Given the description of an element on the screen output the (x, y) to click on. 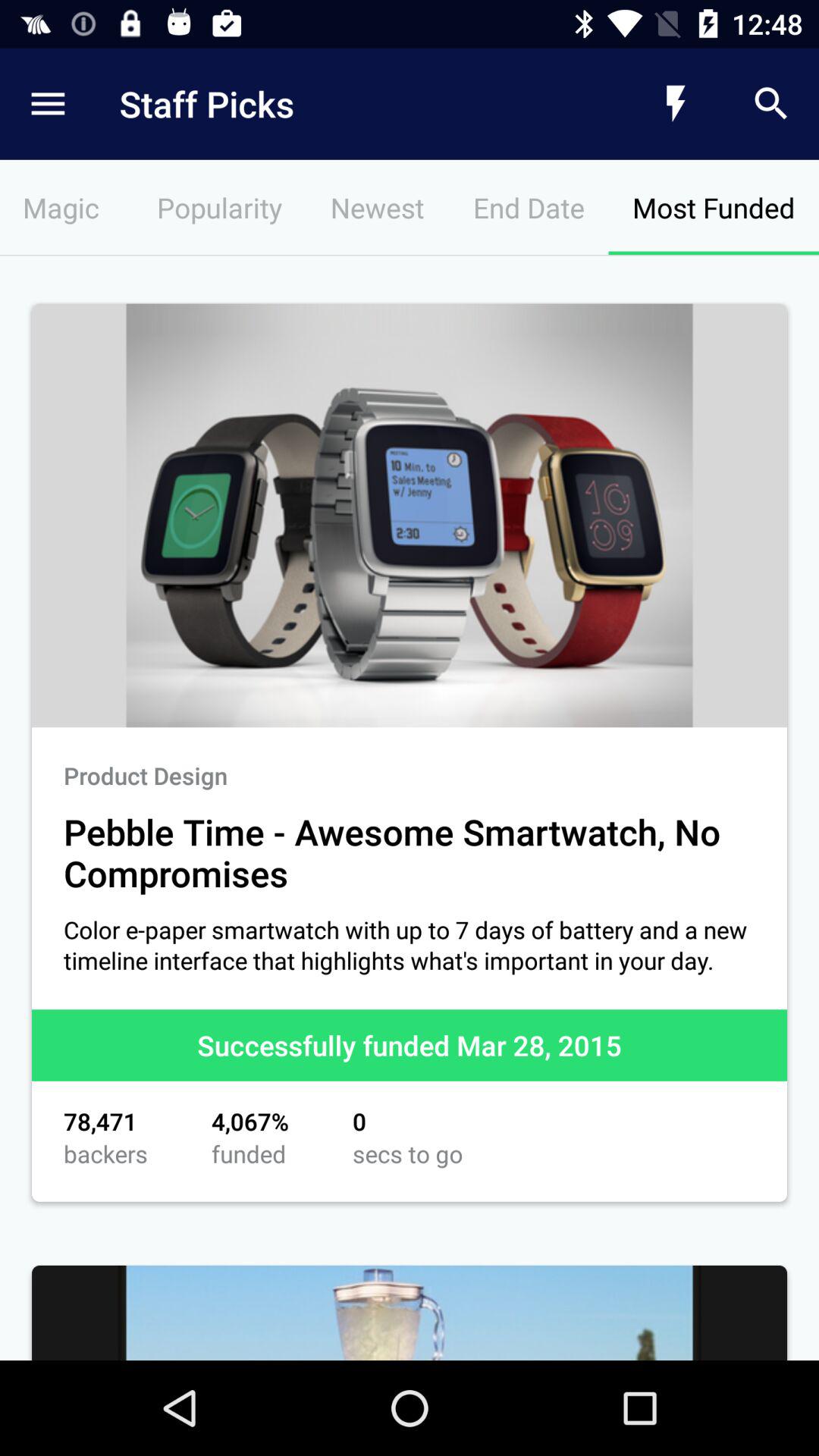
tap the staff picks (345, 103)
